Given the description of an element on the screen output the (x, y) to click on. 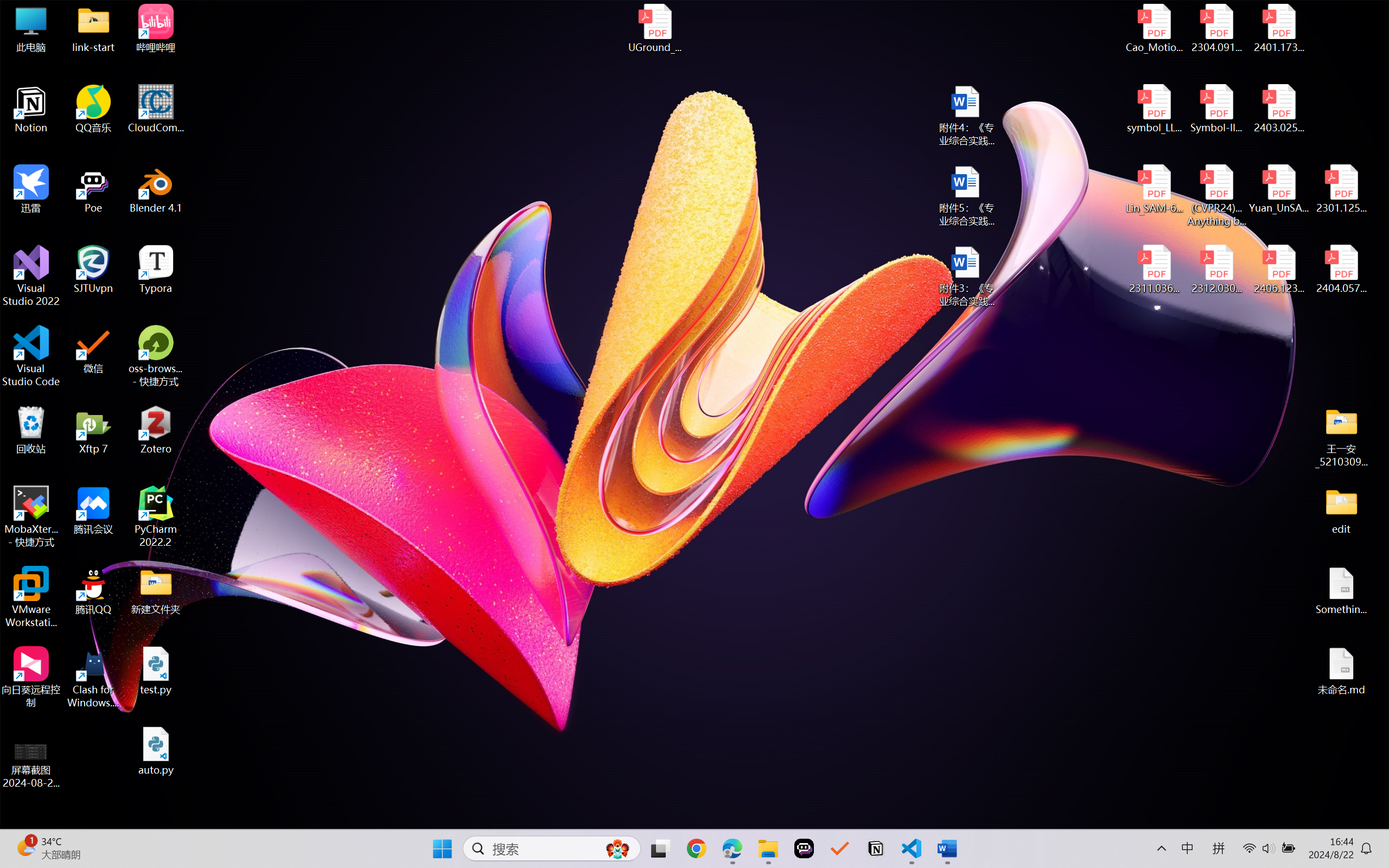
Something.md (1340, 591)
auto.py (156, 751)
symbol_LLM.pdf (1154, 109)
UGround_paper.pdf (654, 28)
(CVPR24)Matching Anything by Segmenting Anything.pdf (1216, 195)
Visual Studio Code (31, 355)
